Given the description of an element on the screen output the (x, y) to click on. 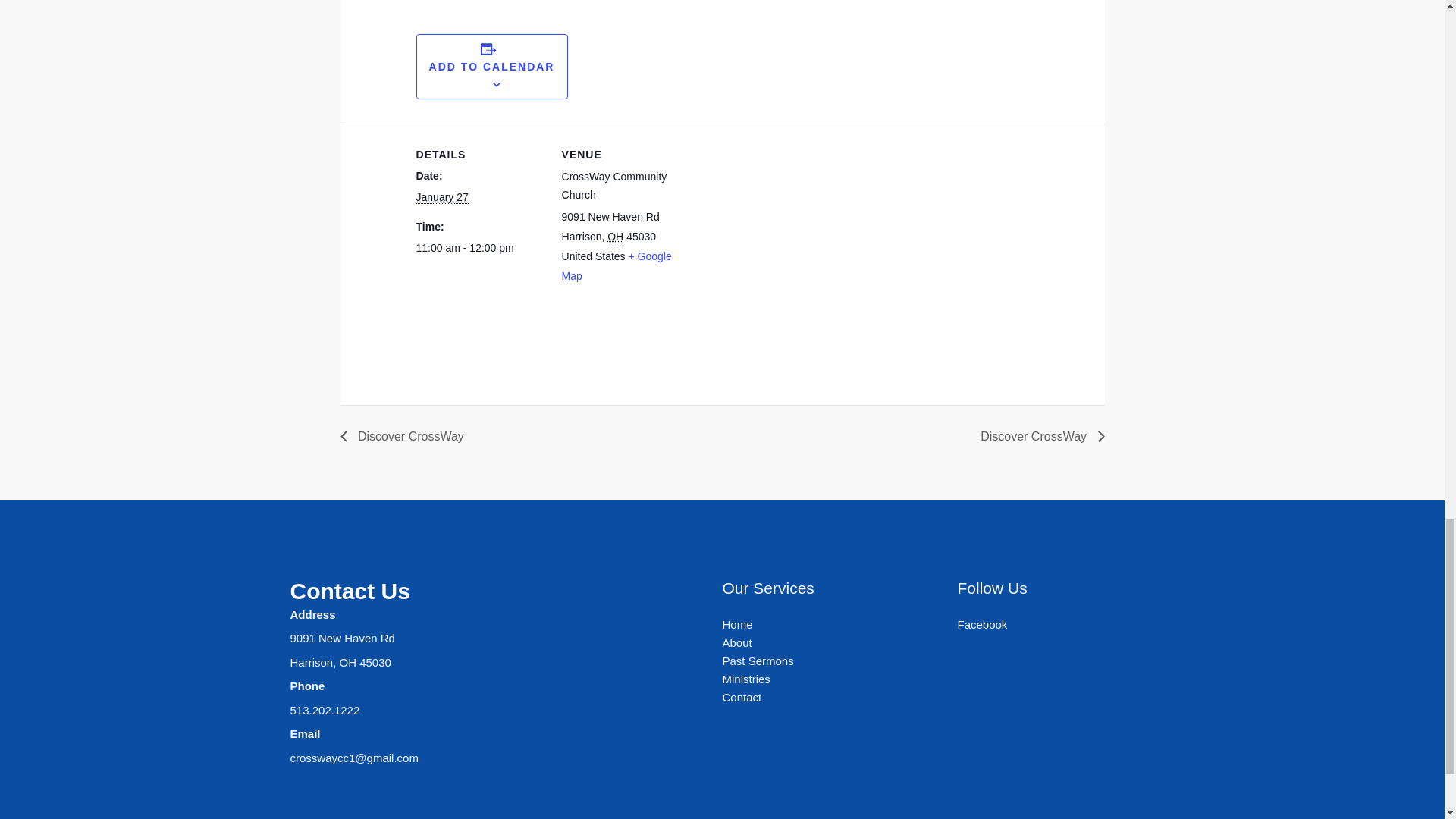
ADD TO CALENDAR (491, 66)
Click to view a Google Map (616, 265)
2024-01-27 (442, 196)
Ohio (615, 236)
2024-01-27 (479, 247)
